Given the description of an element on the screen output the (x, y) to click on. 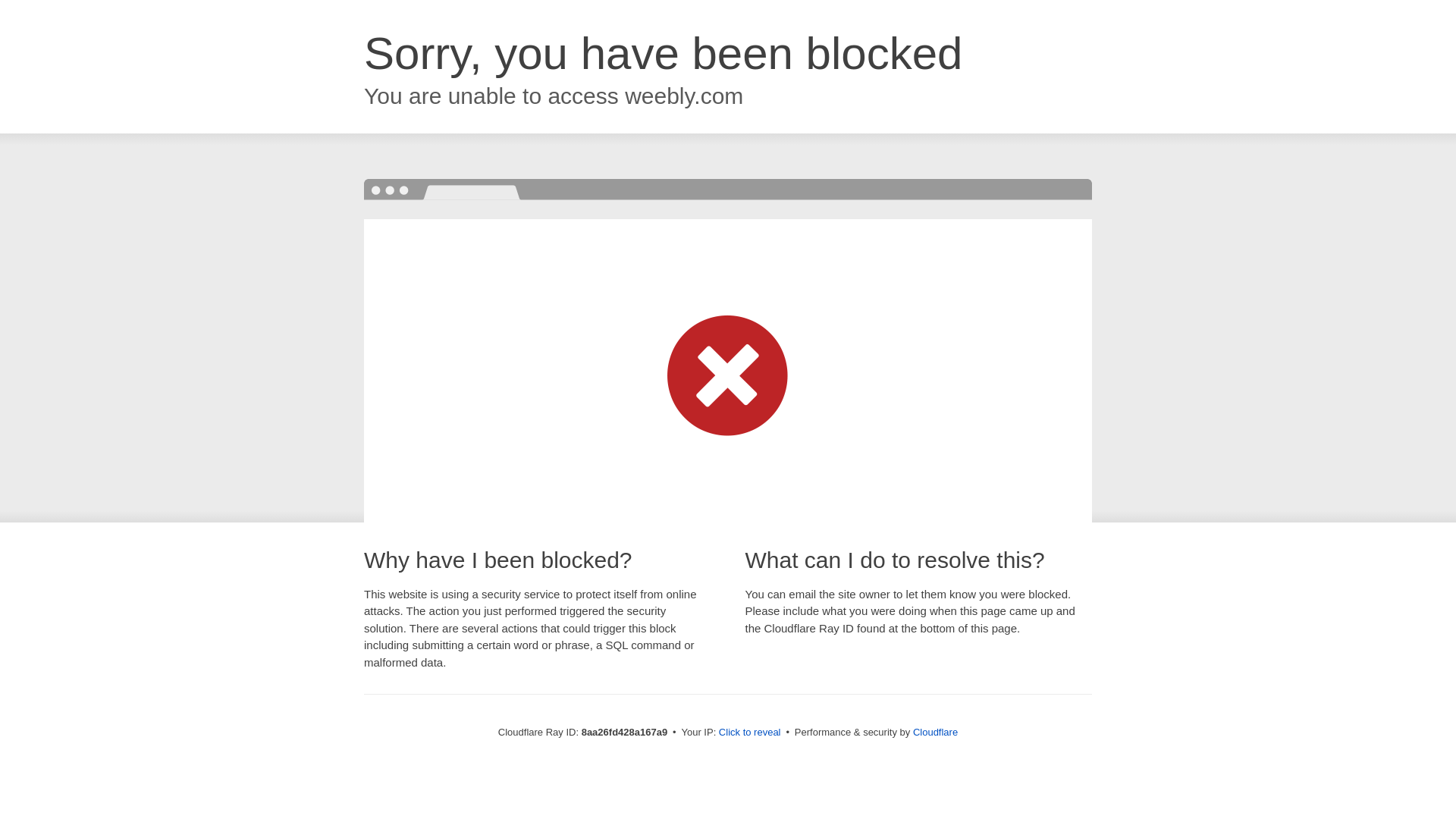
Cloudflare (935, 731)
Click to reveal (749, 732)
